Given the description of an element on the screen output the (x, y) to click on. 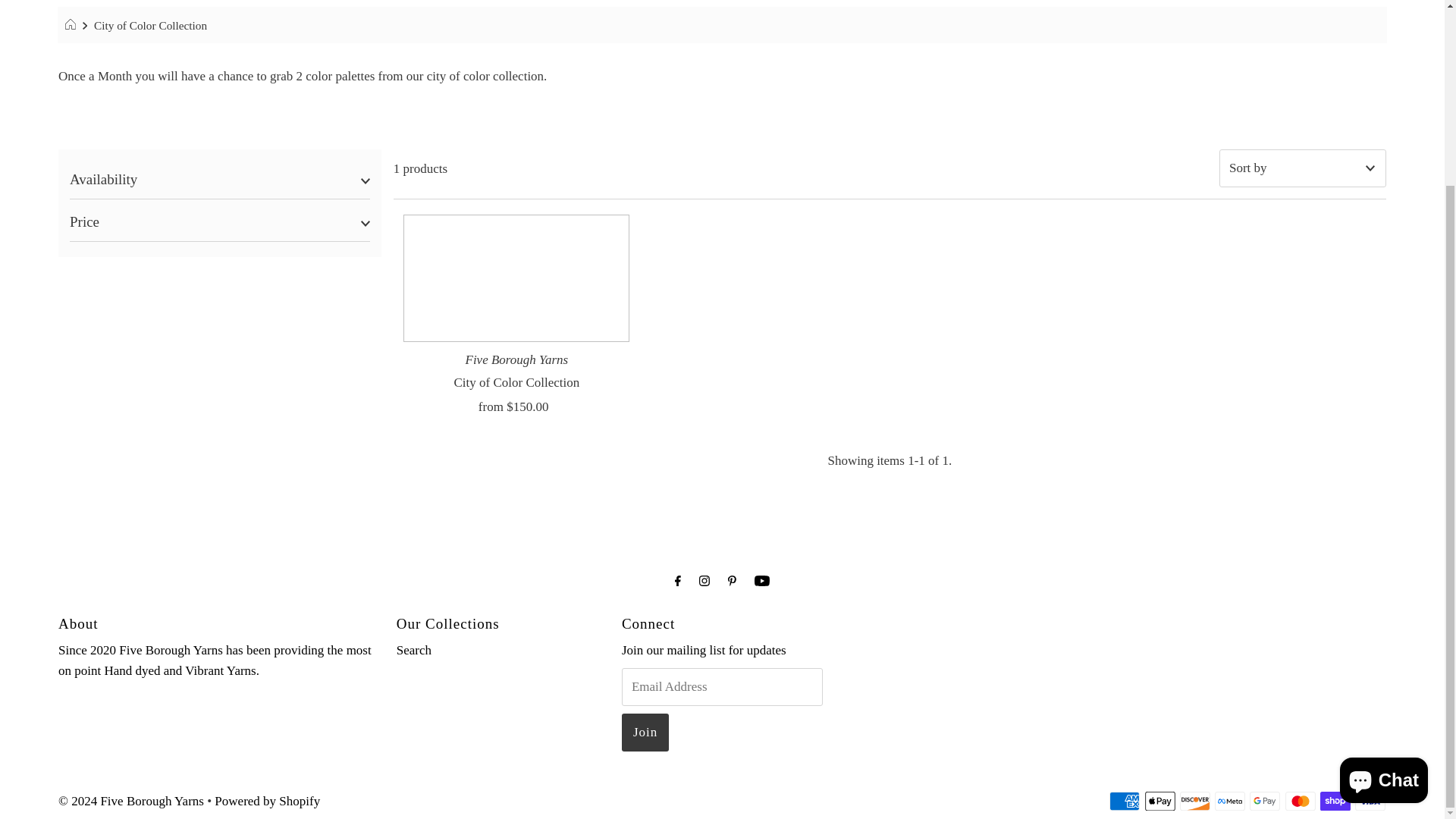
Join (644, 732)
Discover (1194, 800)
American Express (1124, 800)
Visa (1370, 800)
Google Pay (1264, 800)
Shop Pay (1335, 800)
Apple Pay (1159, 800)
Meta Pay (1229, 800)
Mastercard (1299, 800)
